Given the description of an element on the screen output the (x, y) to click on. 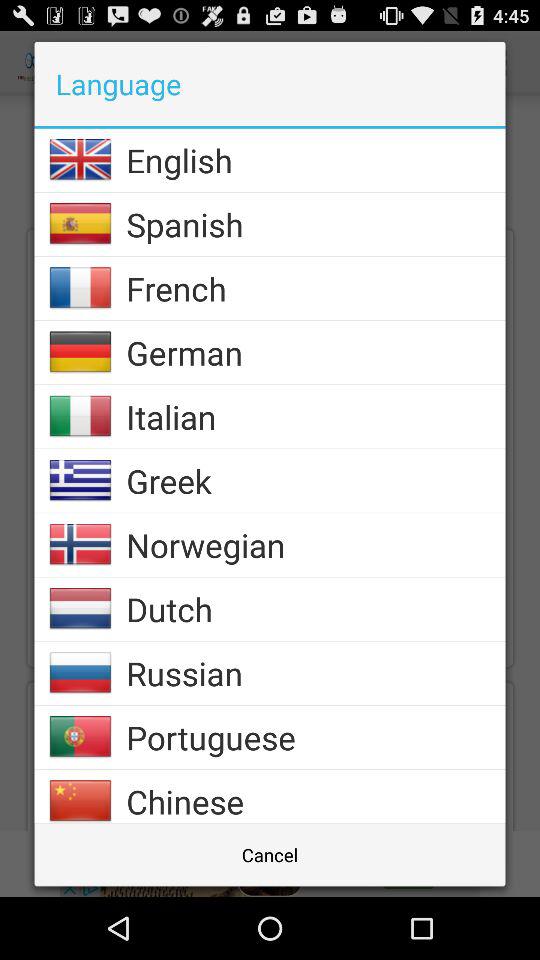
jump to the english item (315, 160)
